Given the description of an element on the screen output the (x, y) to click on. 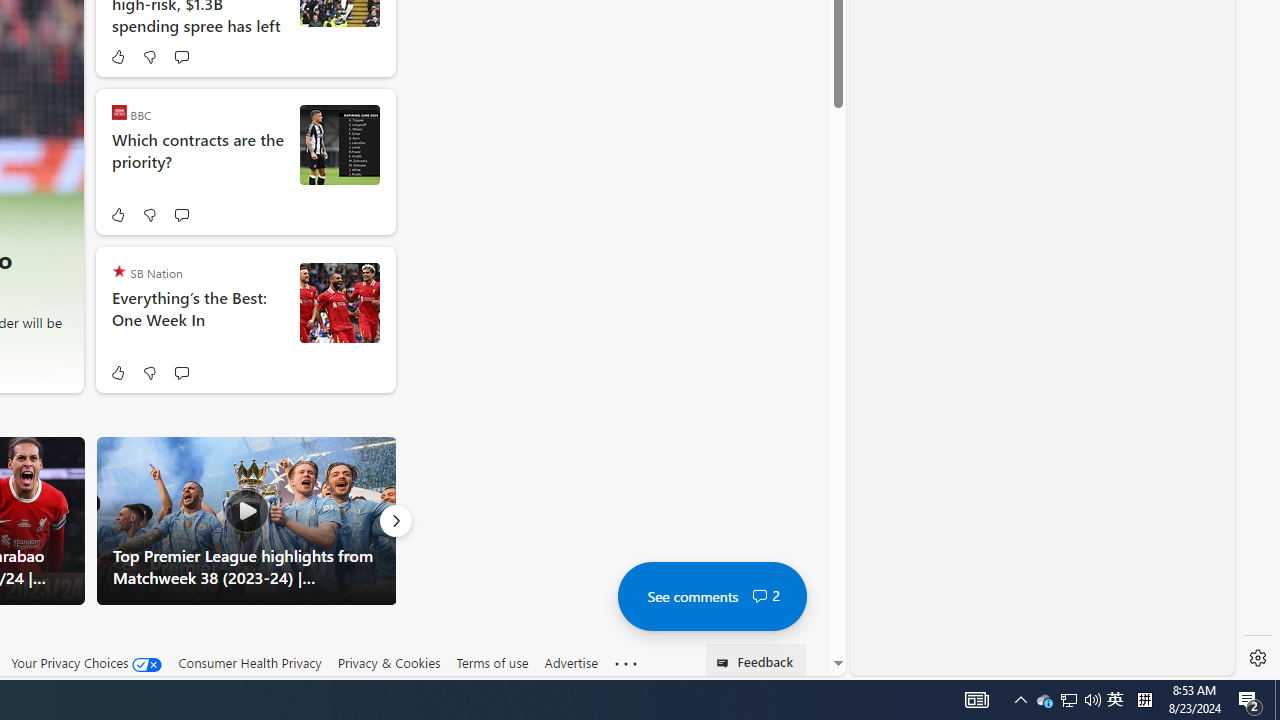
Class: oneFooter_seeMore-DS-EntryPoint1-1 (625, 663)
